Given the description of an element on the screen output the (x, y) to click on. 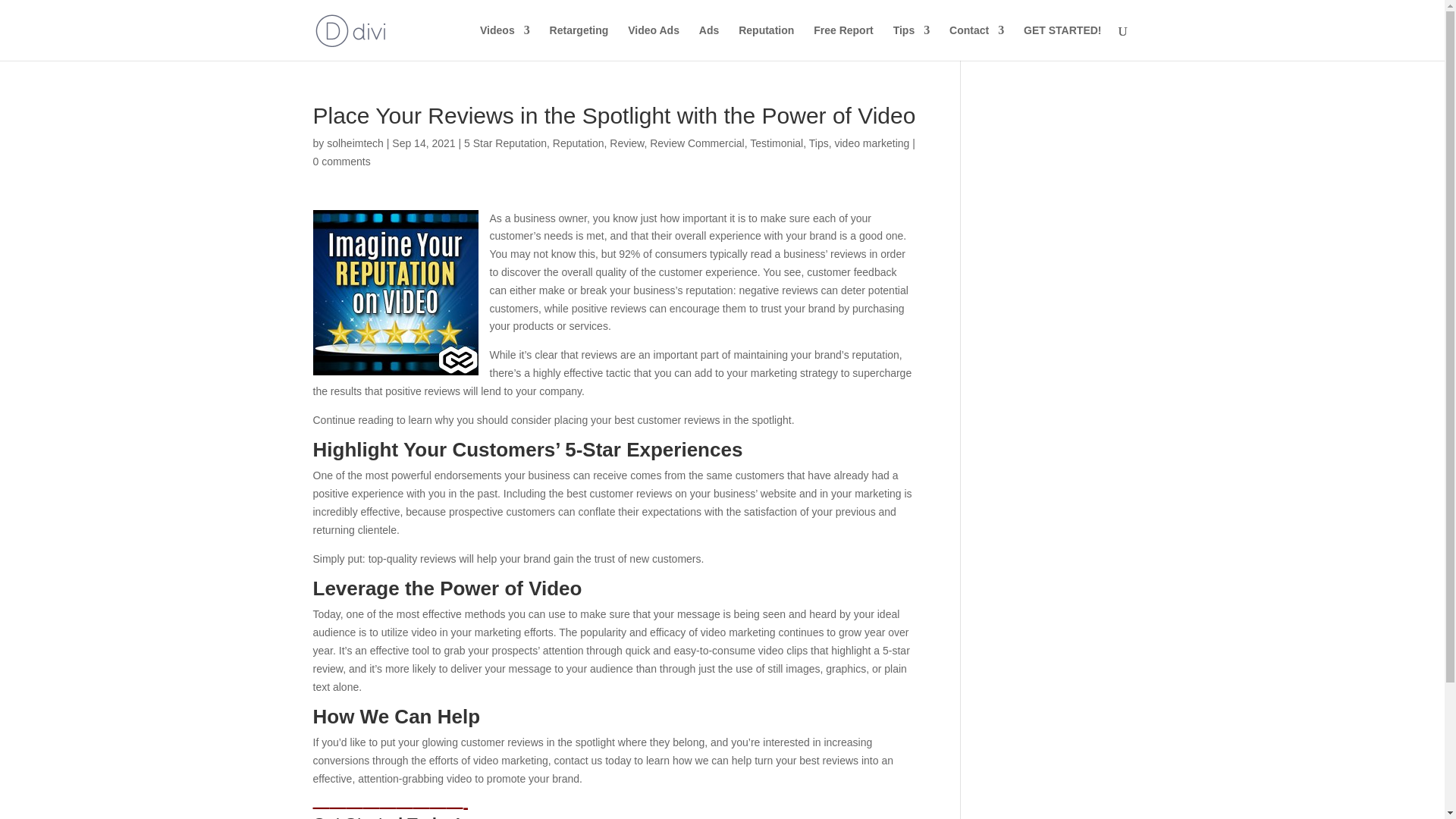
GET STARTED! (1061, 42)
Tips (911, 42)
Reputation (765, 42)
5 Star Reputation (505, 143)
Free Report (843, 42)
Contact (976, 42)
solheimtech (355, 143)
Ads (708, 42)
Retargeting (579, 42)
Video Ads (653, 42)
Posts by solheimtech (355, 143)
Videos (504, 42)
Reputation (578, 143)
